Given the description of an element on the screen output the (x, y) to click on. 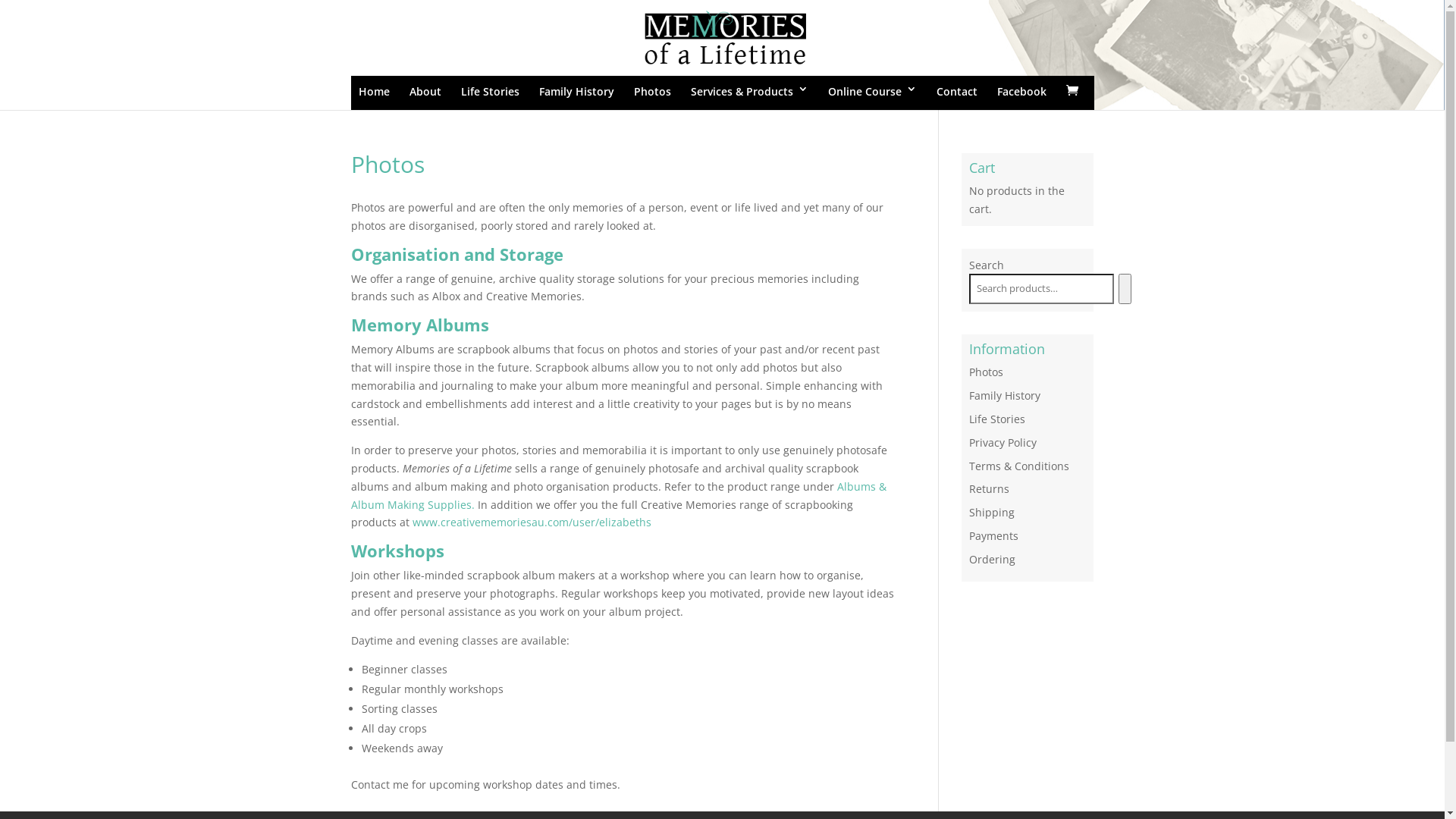
Services & Products Element type: text (749, 92)
Family History Element type: text (576, 92)
www.creativememoriesau.com/user/elizabeths Element type: text (531, 521)
Contact Element type: text (956, 92)
Facebook Element type: text (1021, 92)
Life Stories Element type: text (490, 92)
Payments Element type: text (993, 535)
Albums & Album Making Supplies. Element type: text (617, 495)
Shipping Element type: text (991, 512)
Privacy Policy Element type: text (1002, 442)
Home Element type: text (373, 92)
Family History Element type: text (1004, 395)
Photos Element type: text (986, 371)
Online Course Element type: text (872, 92)
Ordering Element type: text (992, 559)
Returns Element type: text (989, 488)
About Element type: text (425, 92)
Terms & Conditions Element type: text (1019, 465)
Photos Element type: text (652, 92)
Life Stories Element type: text (997, 418)
